Given the description of an element on the screen output the (x, y) to click on. 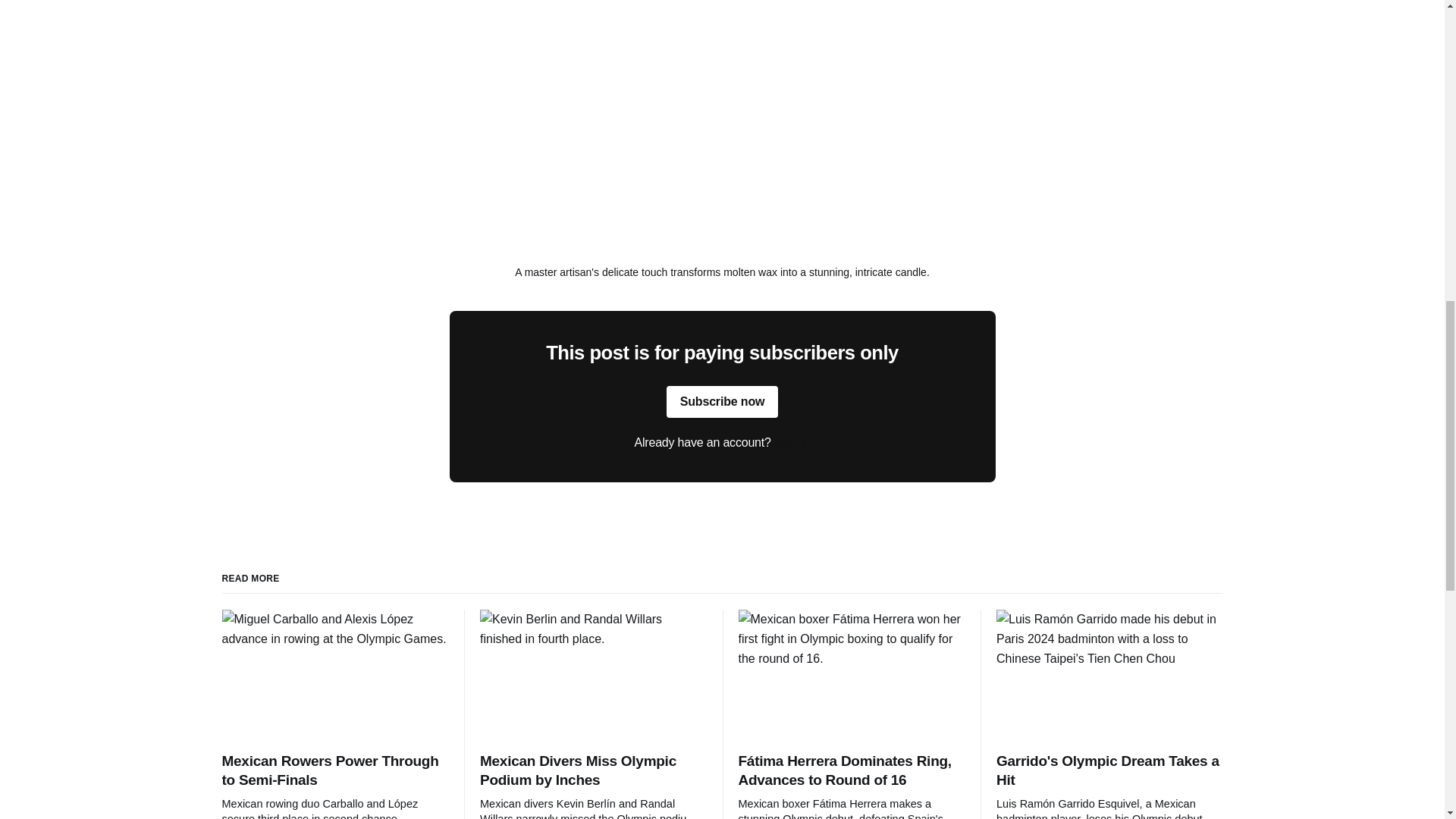
Subscribe now (722, 401)
Sign in (792, 440)
